Given the description of an element on the screen output the (x, y) to click on. 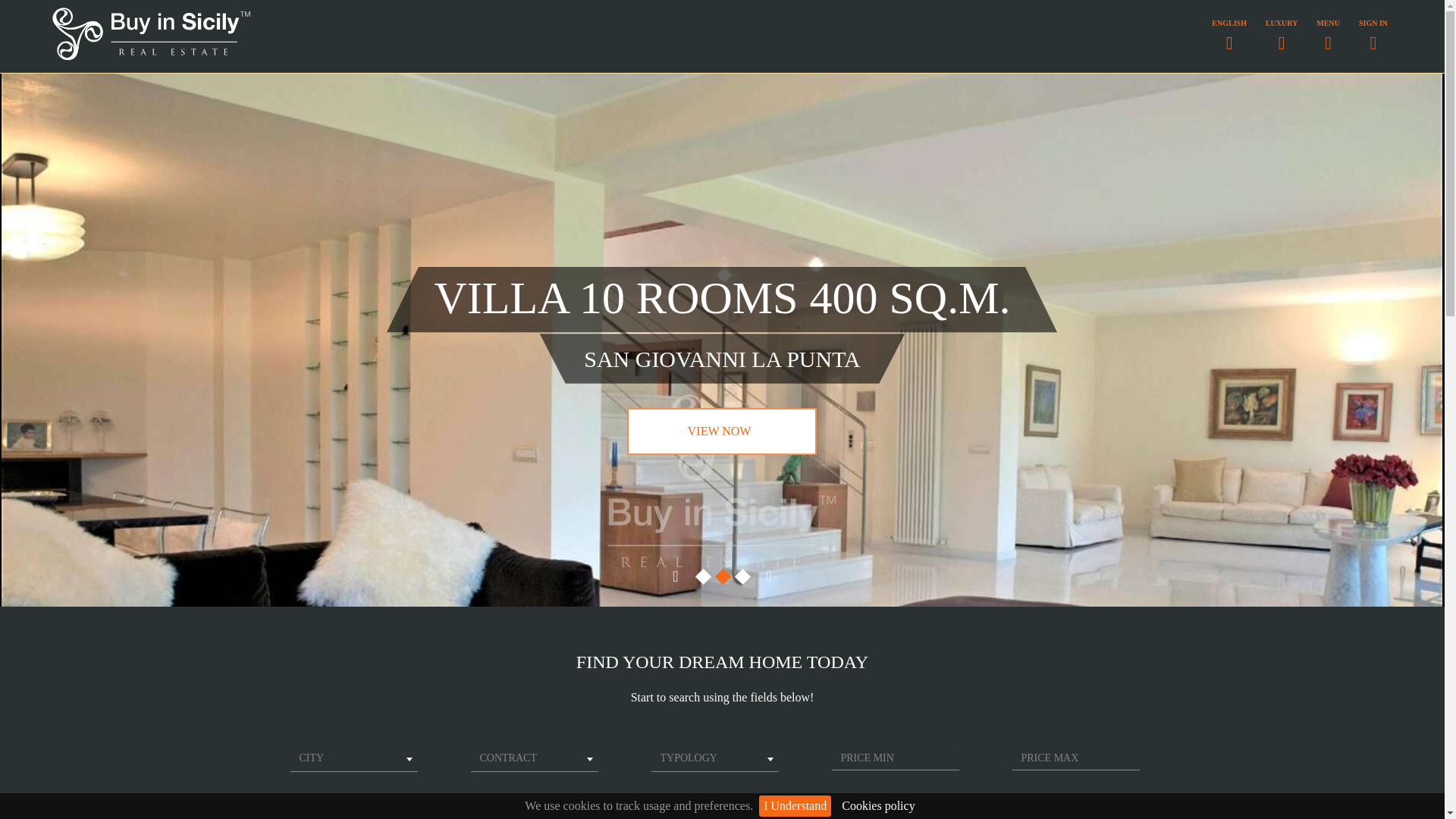
Buy in Sicily (150, 57)
Cookies policy (877, 805)
I Understand (794, 805)
